Given the description of an element on the screen output the (x, y) to click on. 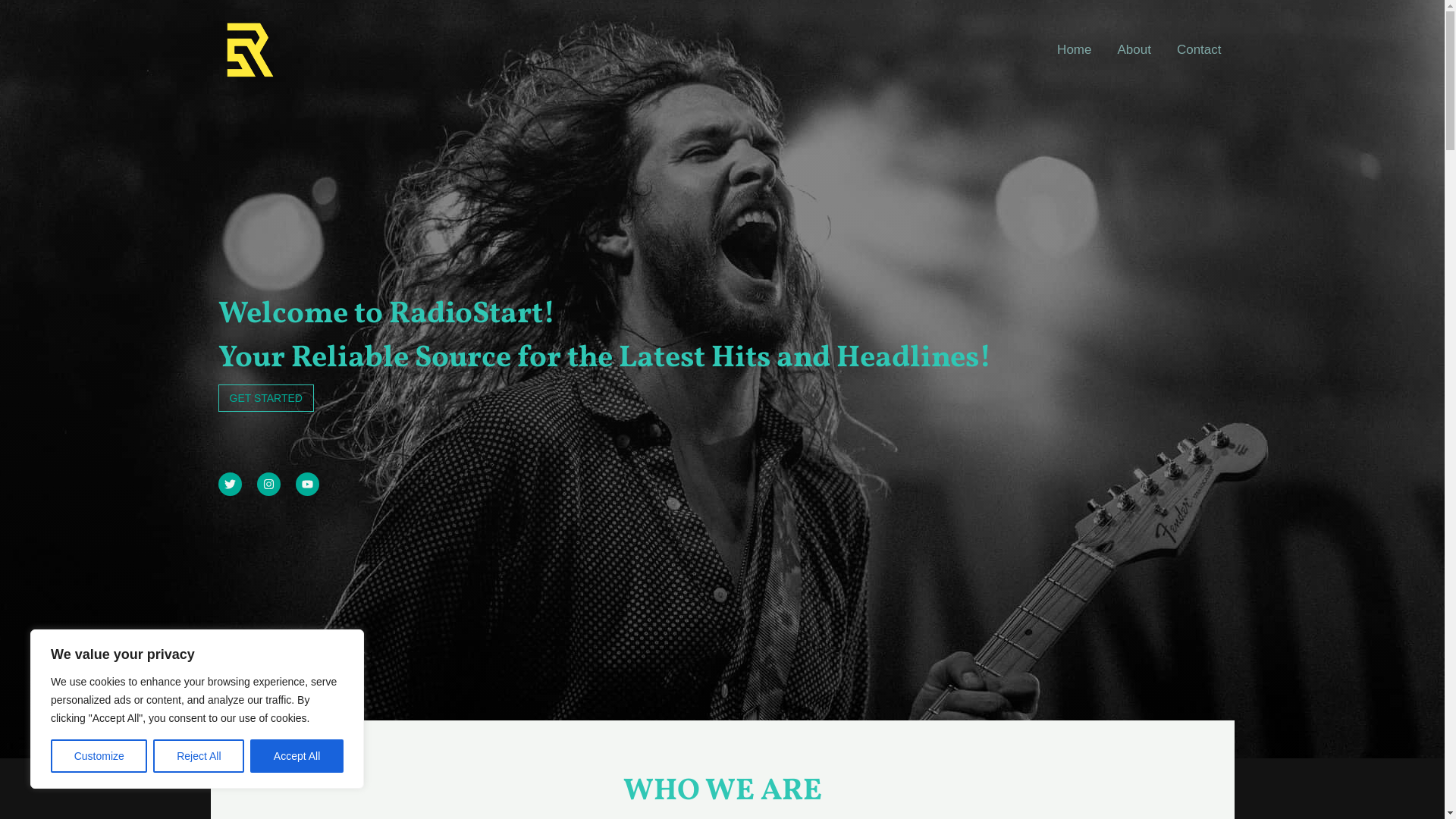
Home Element type: text (1074, 49)
GET STARTED Element type: text (265, 397)
Accept All Element type: text (296, 755)
Contact Element type: text (1199, 49)
About Element type: text (1133, 49)
Customize Element type: text (98, 755)
Reject All Element type: text (198, 755)
